Given the description of an element on the screen output the (x, y) to click on. 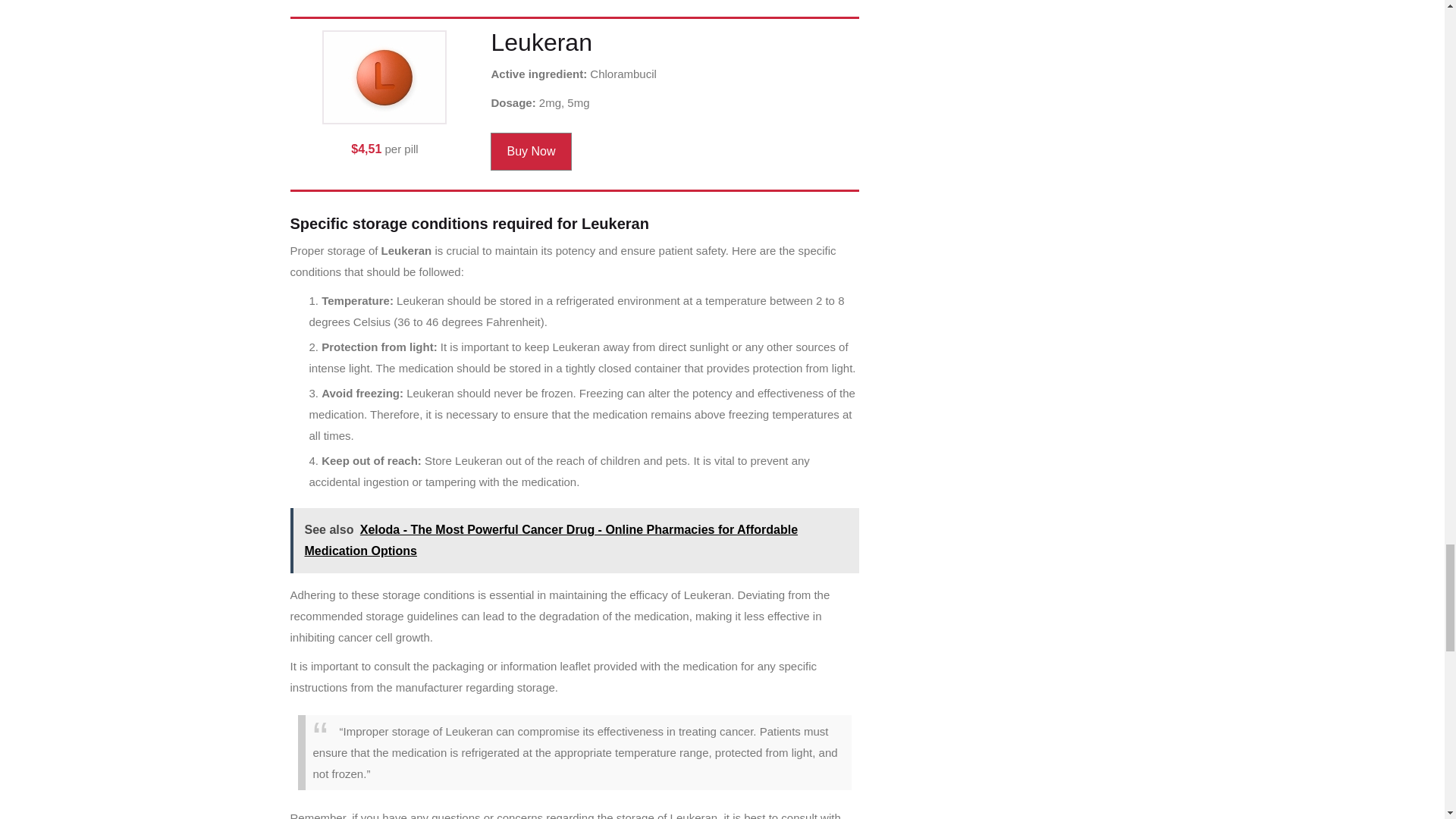
Buy Now (530, 151)
